Given the description of an element on the screen output the (x, y) to click on. 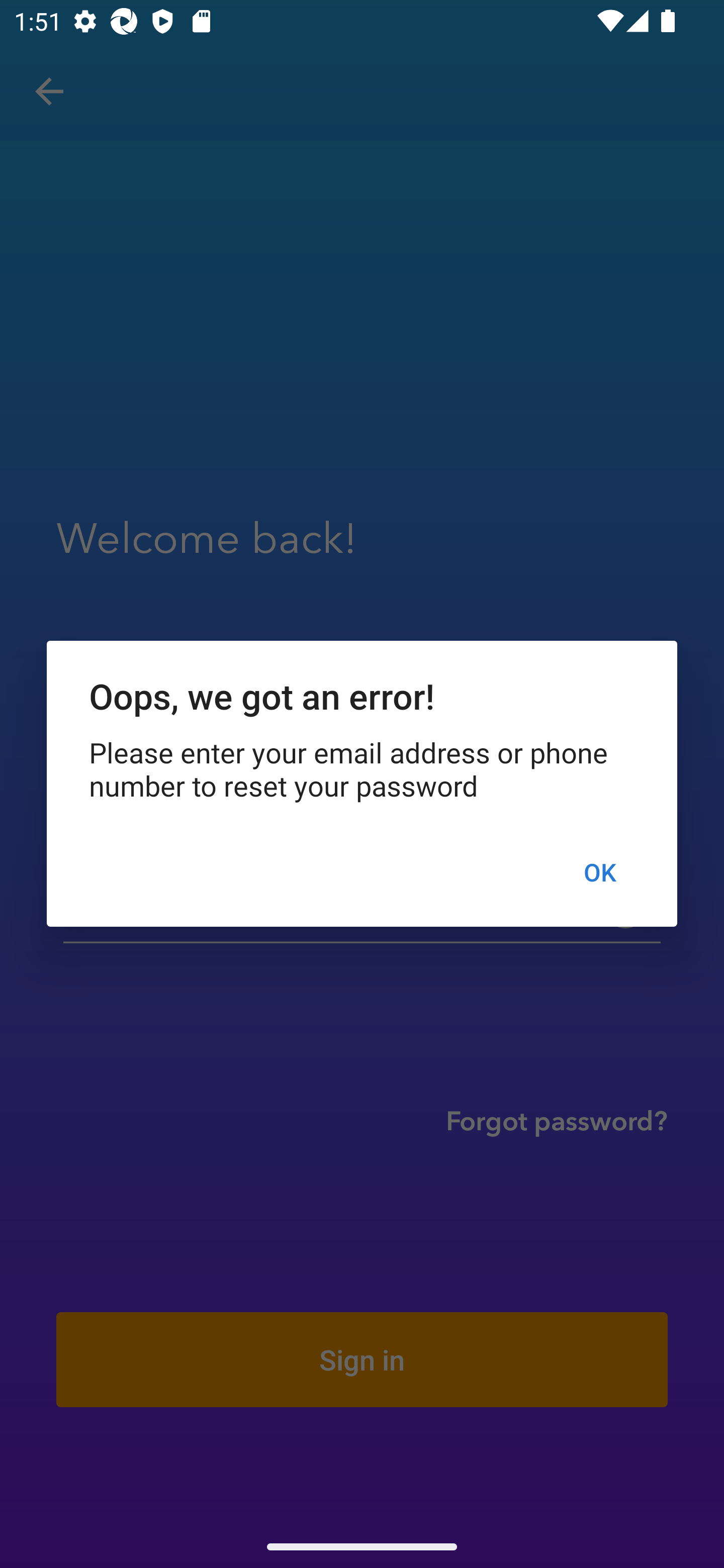
OK (599, 872)
